Given the description of an element on the screen output the (x, y) to click on. 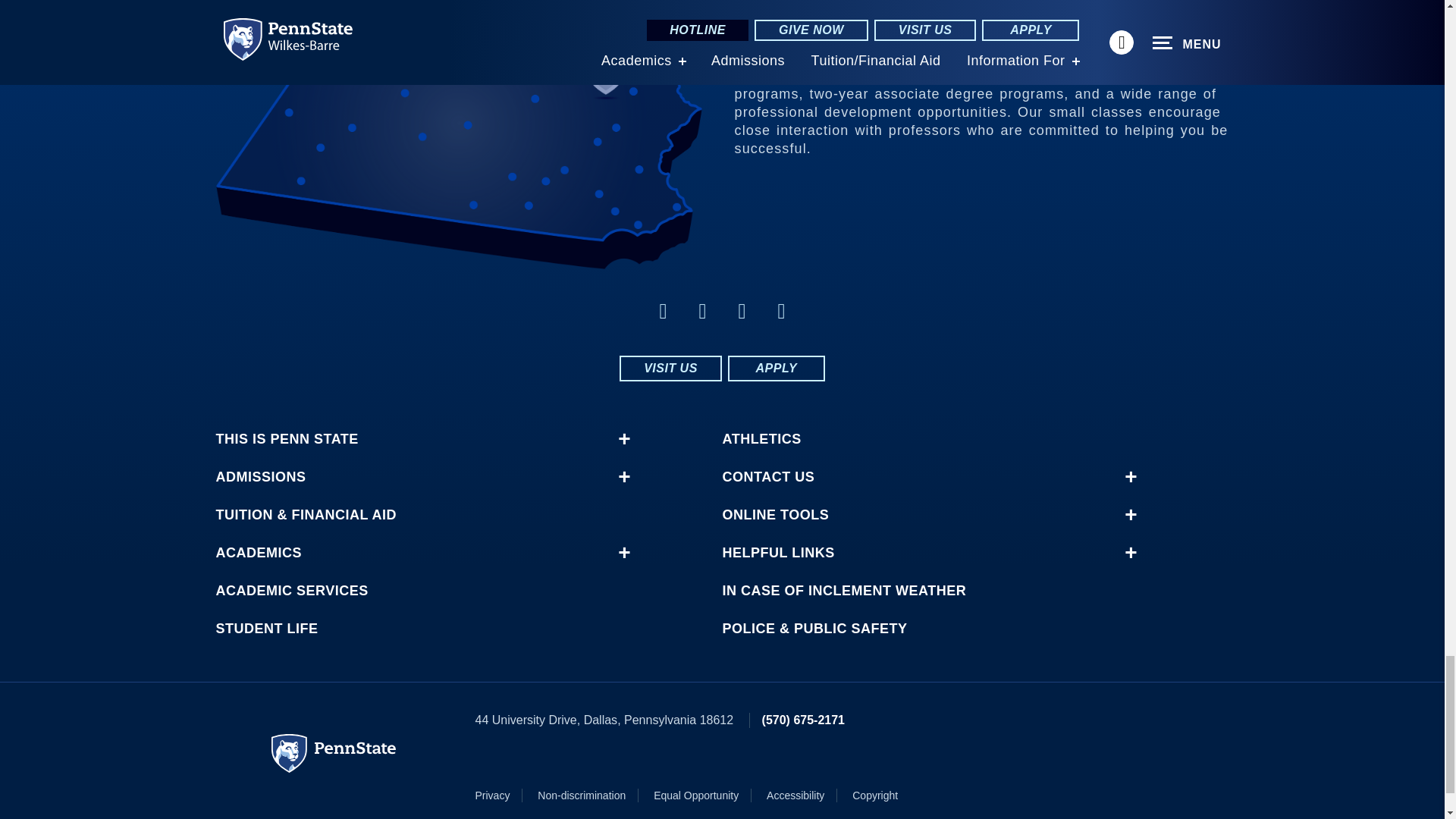
youtube (741, 310)
facebook (702, 310)
instagram (662, 310)
X (781, 310)
